Given the description of an element on the screen output the (x, y) to click on. 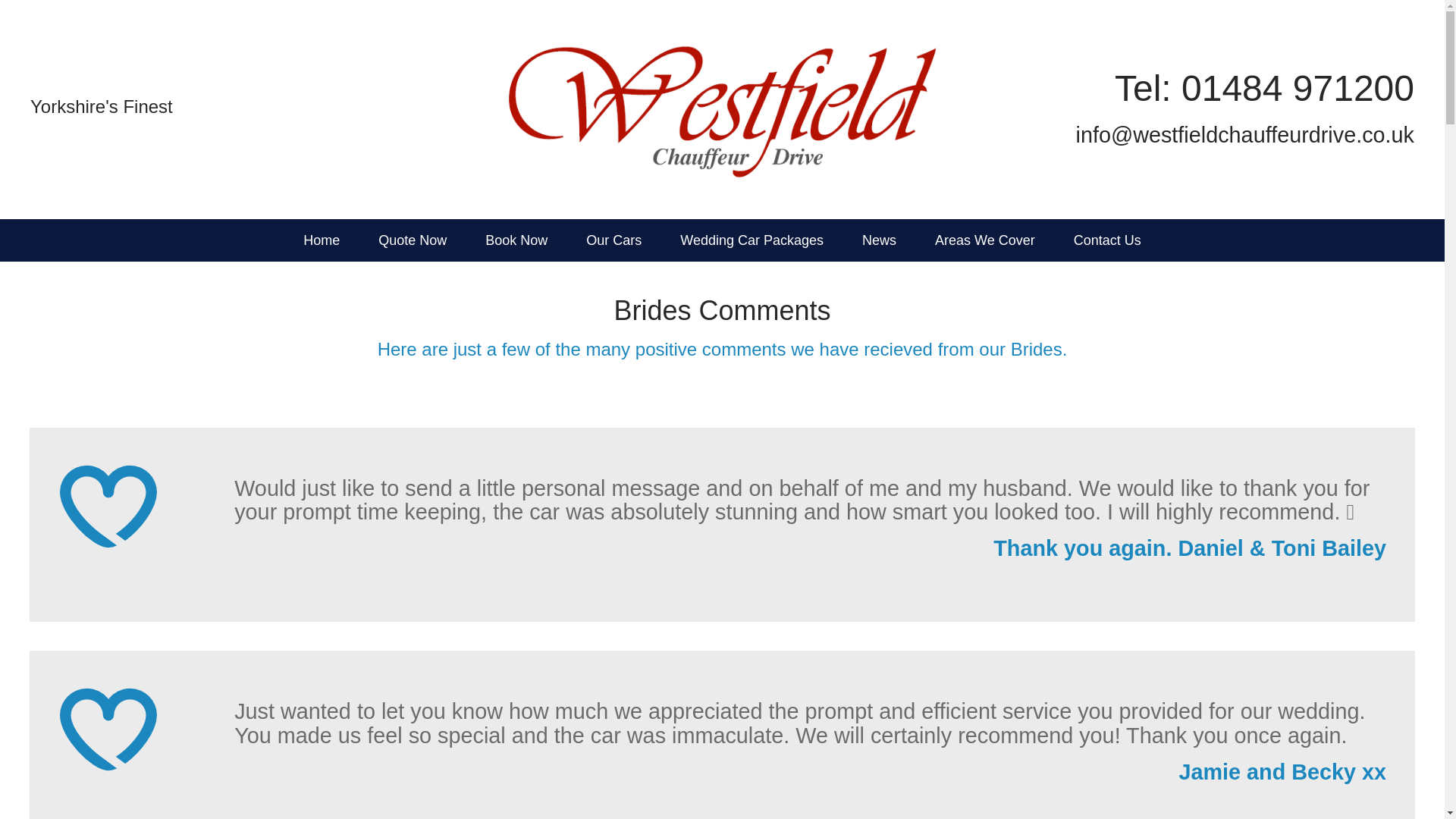
Book Now (515, 240)
Quote Now (412, 240)
Wedding Car Packages (752, 240)
Home (320, 240)
Our Cars (614, 240)
News (879, 240)
Areas We Cover (984, 240)
Tel: 01484 971200 (1264, 87)
Contact Us (1107, 240)
